Given the description of an element on the screen output the (x, y) to click on. 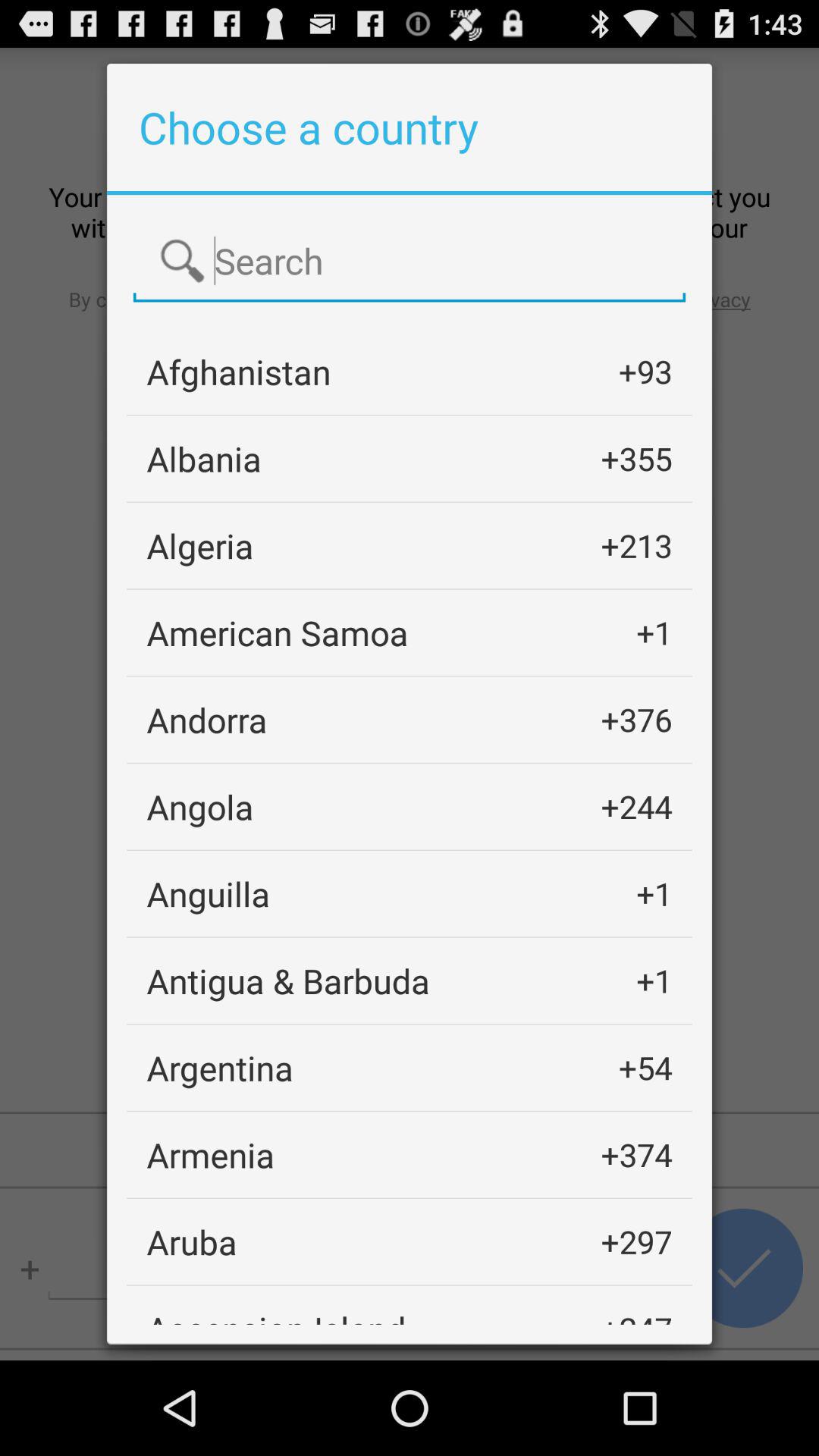
select the icon to the left of +1 item (287, 980)
